Given the description of an element on the screen output the (x, y) to click on. 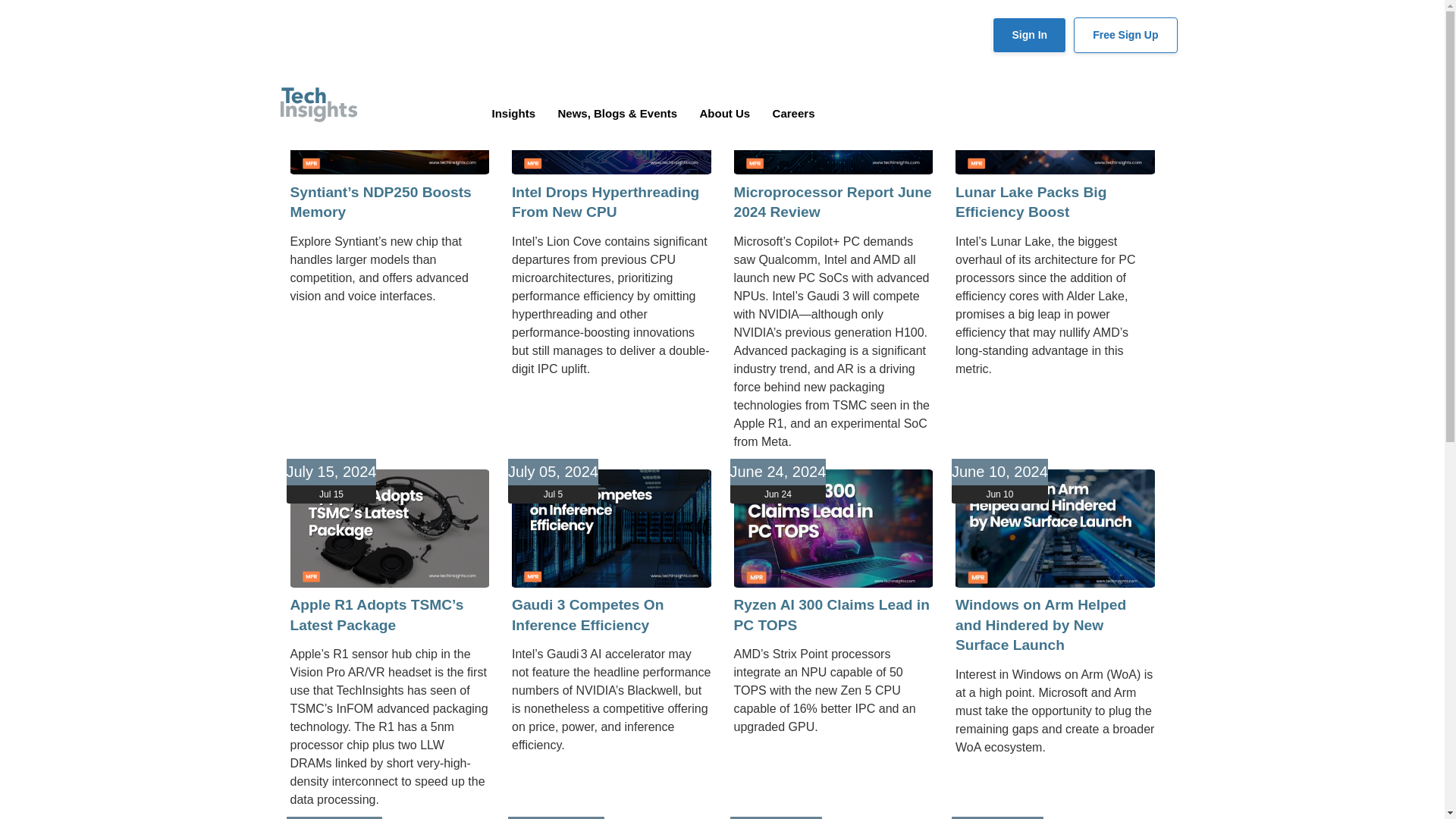
Home (318, 104)
Insights (513, 113)
Free Sign Up (1125, 35)
Sign In (1028, 35)
TechInsights (318, 104)
